Given the description of an element on the screen output the (x, y) to click on. 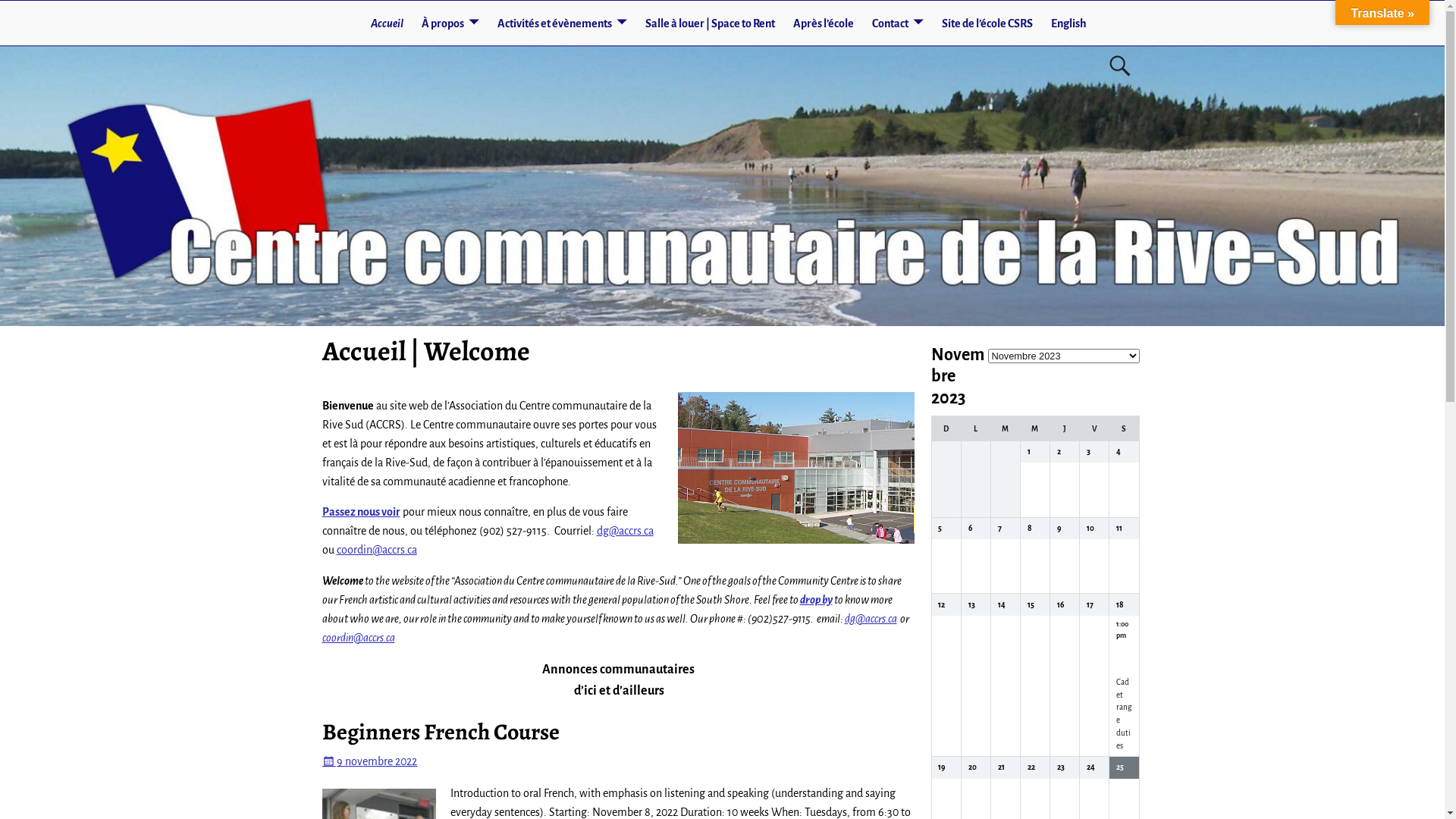
coordin@accrs.ca Element type: text (376, 549)
dg@accrs.ca Element type: text (624, 530)
Accueil Element type: text (385, 22)
Contact Element type: text (897, 22)
drop by Element type: text (815, 599)
centre-communautaire Element type: hover (795, 467)
Beginners French Course Element type: text (439, 731)
Passez nous voir Element type: text (360, 511)
English Element type: text (1068, 22)
9 novembre 2022 Element type: text (369, 761)
coordin@accrs.ca Element type: text (357, 637)
dg@accrs.ca Element type: text (870, 618)
